Given the description of an element on the screen output the (x, y) to click on. 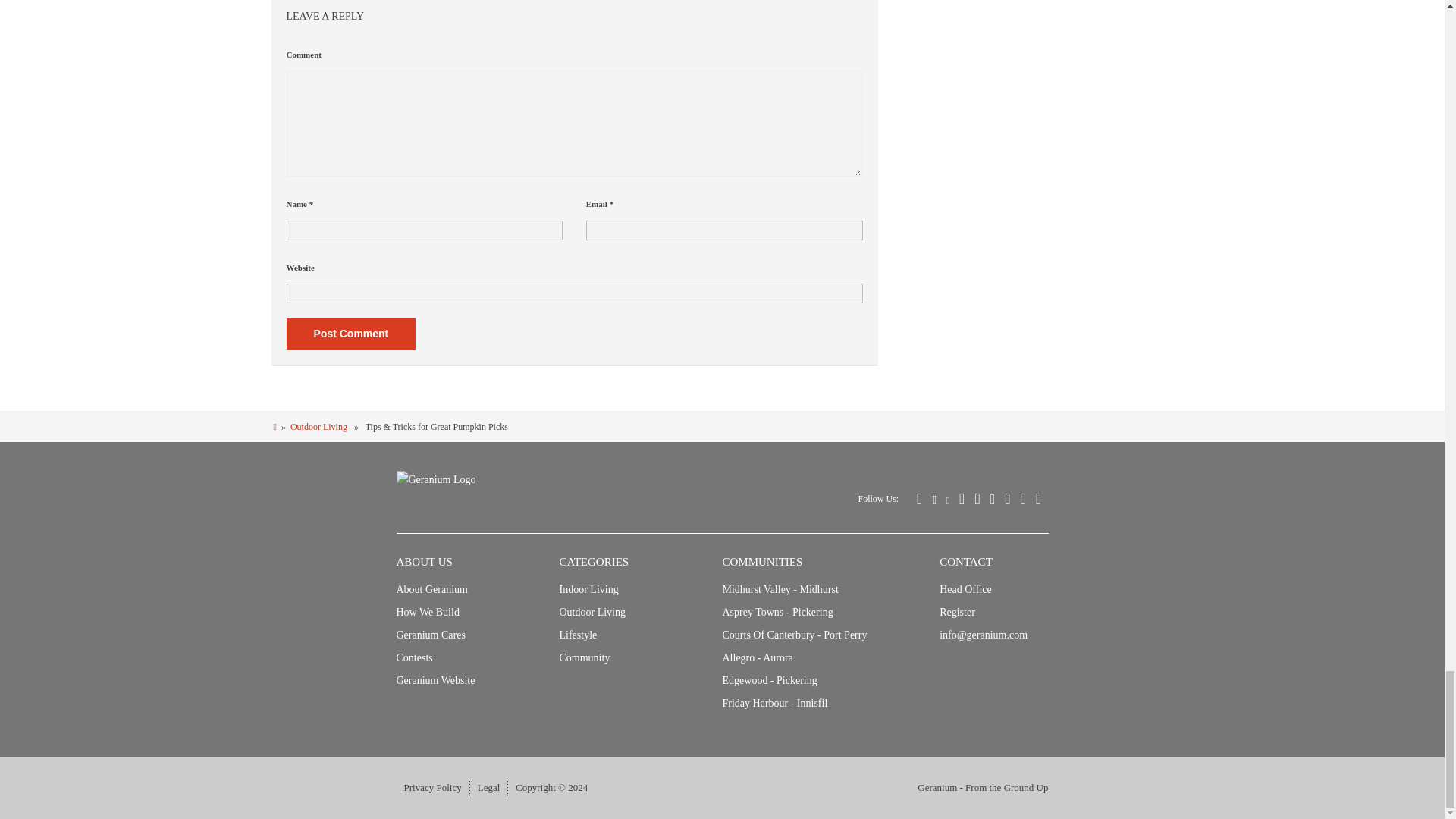
Post Comment (351, 333)
